Given the description of an element on the screen output the (x, y) to click on. 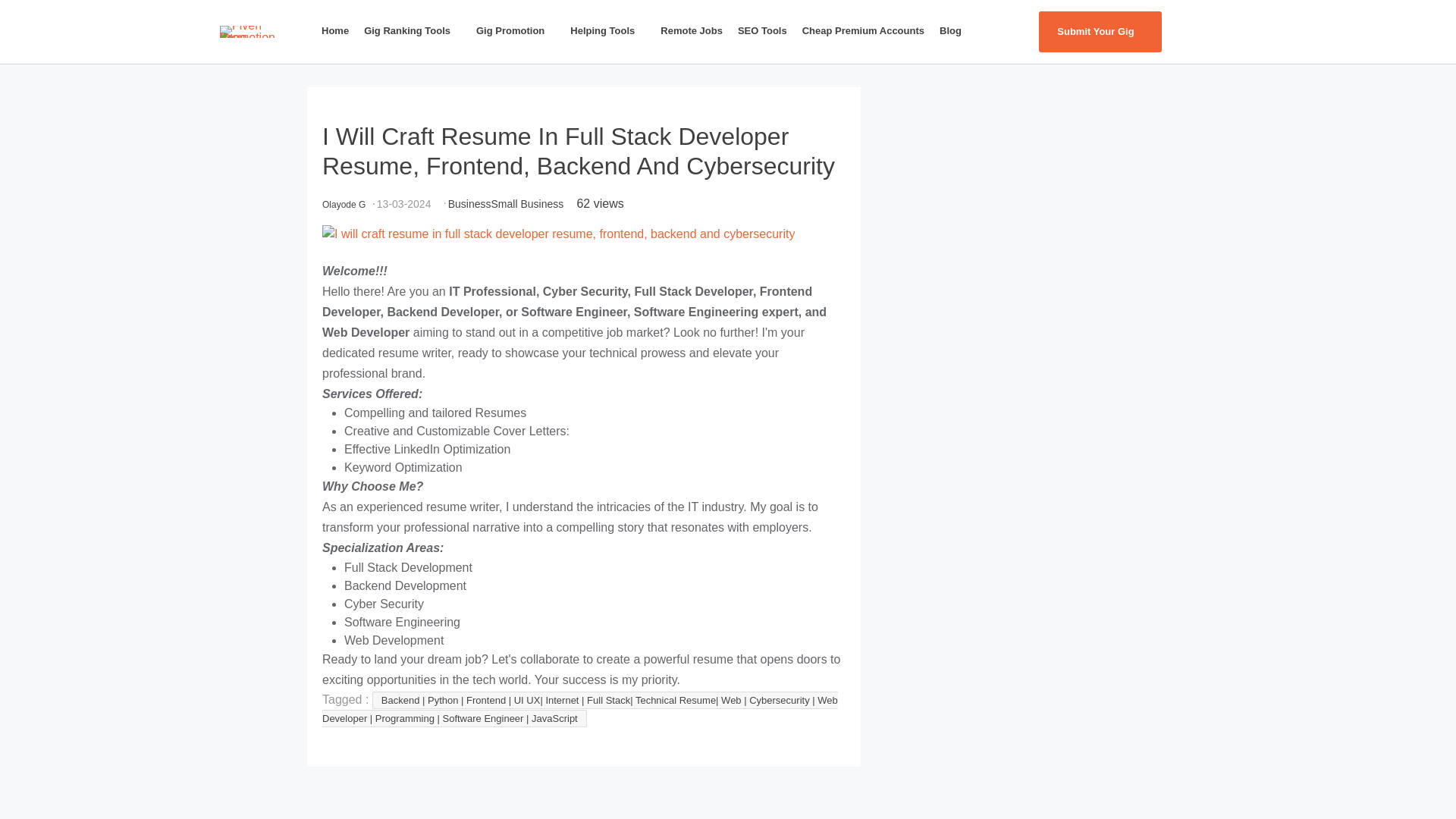
Cheap Premium Accounts (867, 30)
Olayode G (343, 204)
Remote Jobs (696, 30)
Home (339, 30)
Submit Your Gig (1099, 31)
Helping Tools (612, 30)
Gig Promotion (520, 30)
BusinessSmall Business (506, 203)
Gig Ranking Tools (417, 30)
Blog (955, 30)
